Given the description of an element on the screen output the (x, y) to click on. 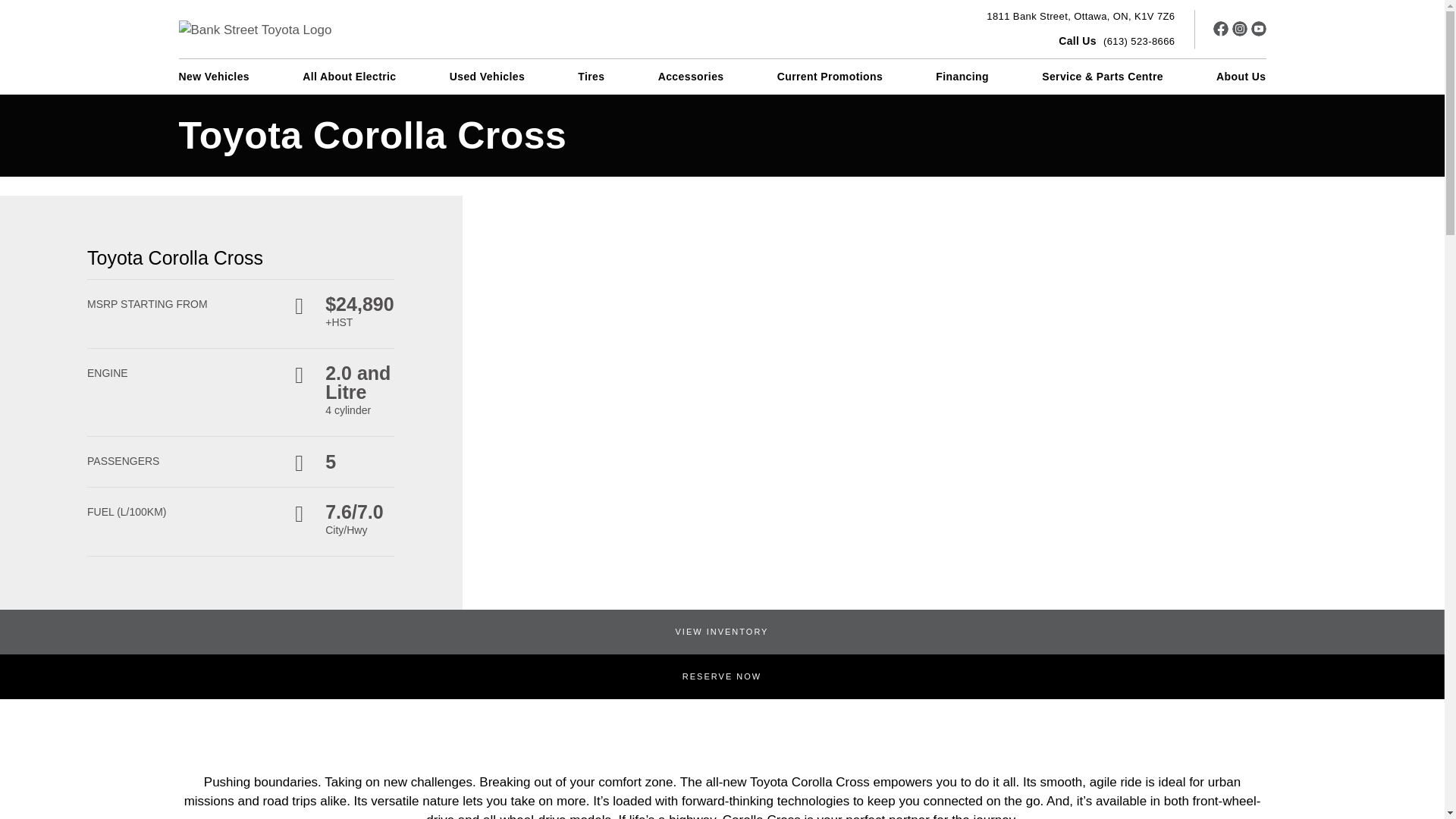
All About Electric (349, 76)
Financing (962, 76)
Current Promotions (829, 76)
Used Vehicles (486, 76)
New Vehicles (1080, 16)
Accessories (214, 76)
